Given the description of an element on the screen output the (x, y) to click on. 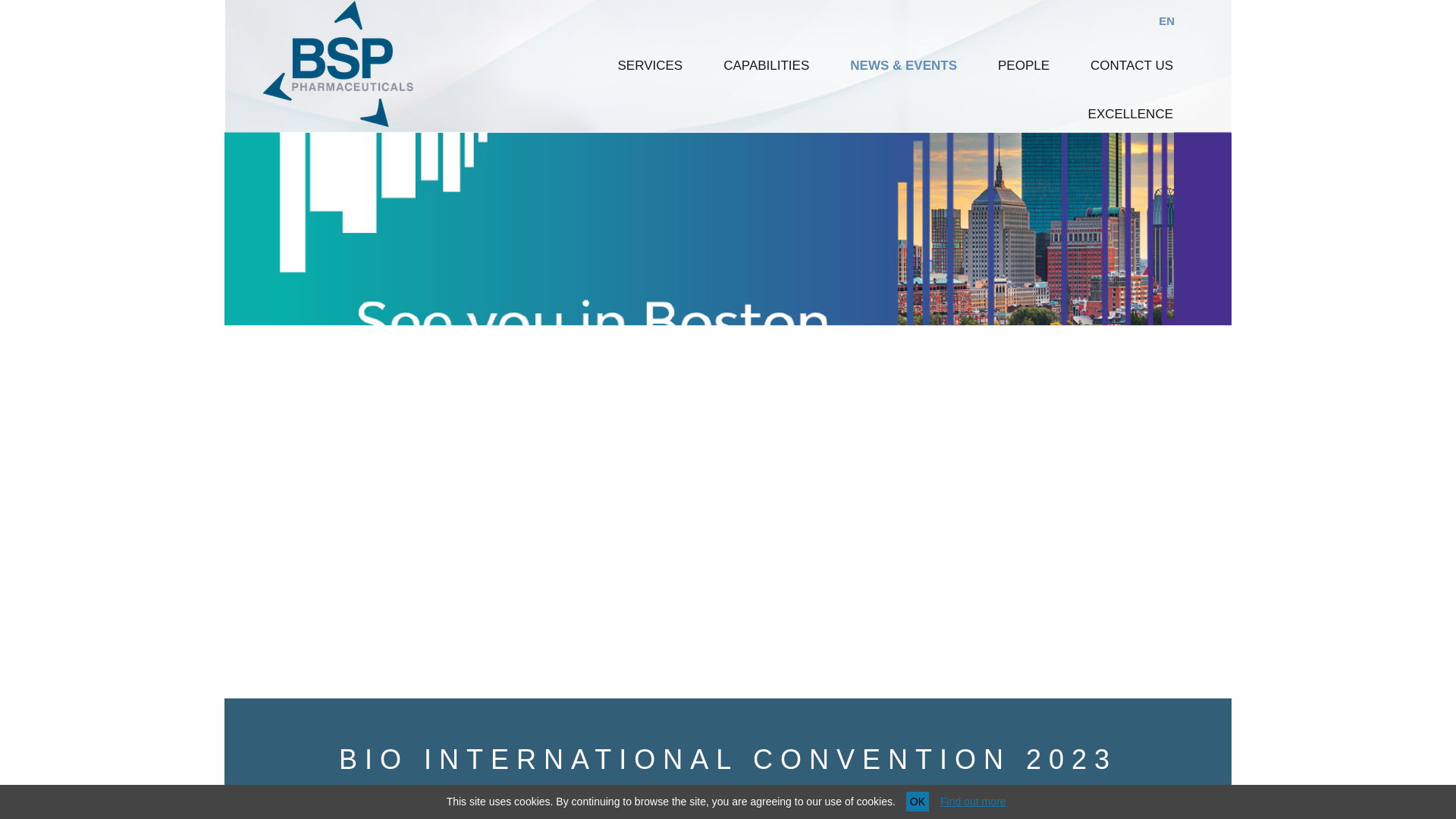
Find out more (973, 801)
CONTACT US (1130, 65)
CAPABILITIES (765, 65)
EN (1166, 20)
SERVICES (650, 65)
PEOPLE (1023, 65)
OK (916, 801)
EXCELLENCE (1130, 114)
